Given the description of an element on the screen output the (x, y) to click on. 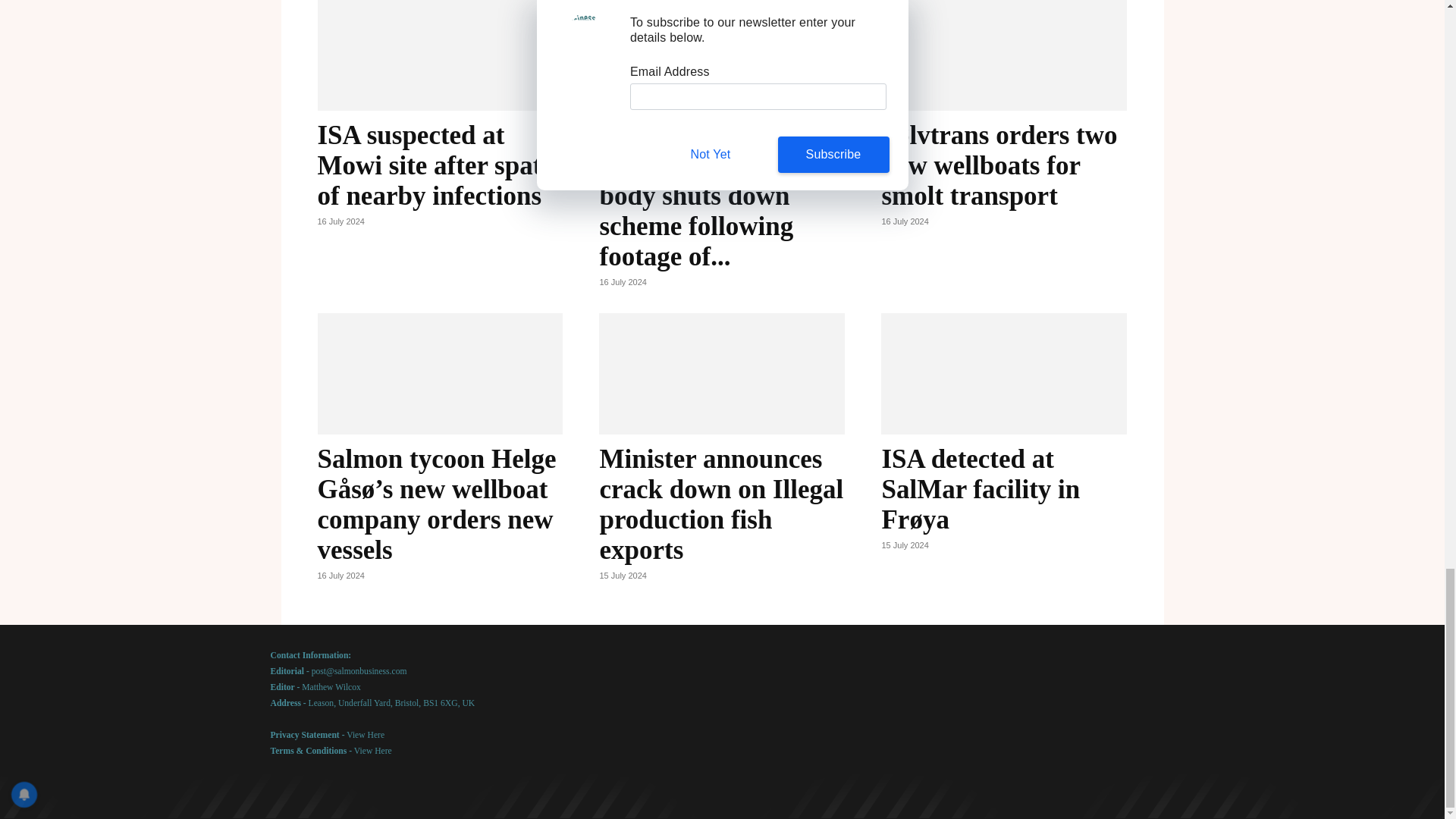
ISA suspected at Mowi site after spate of nearby infections (439, 55)
ISA suspected at Mowi site after spate of nearby infections (435, 165)
ISA suspected at Mowi site after spate of nearby infections (435, 165)
